Given the description of an element on the screen output the (x, y) to click on. 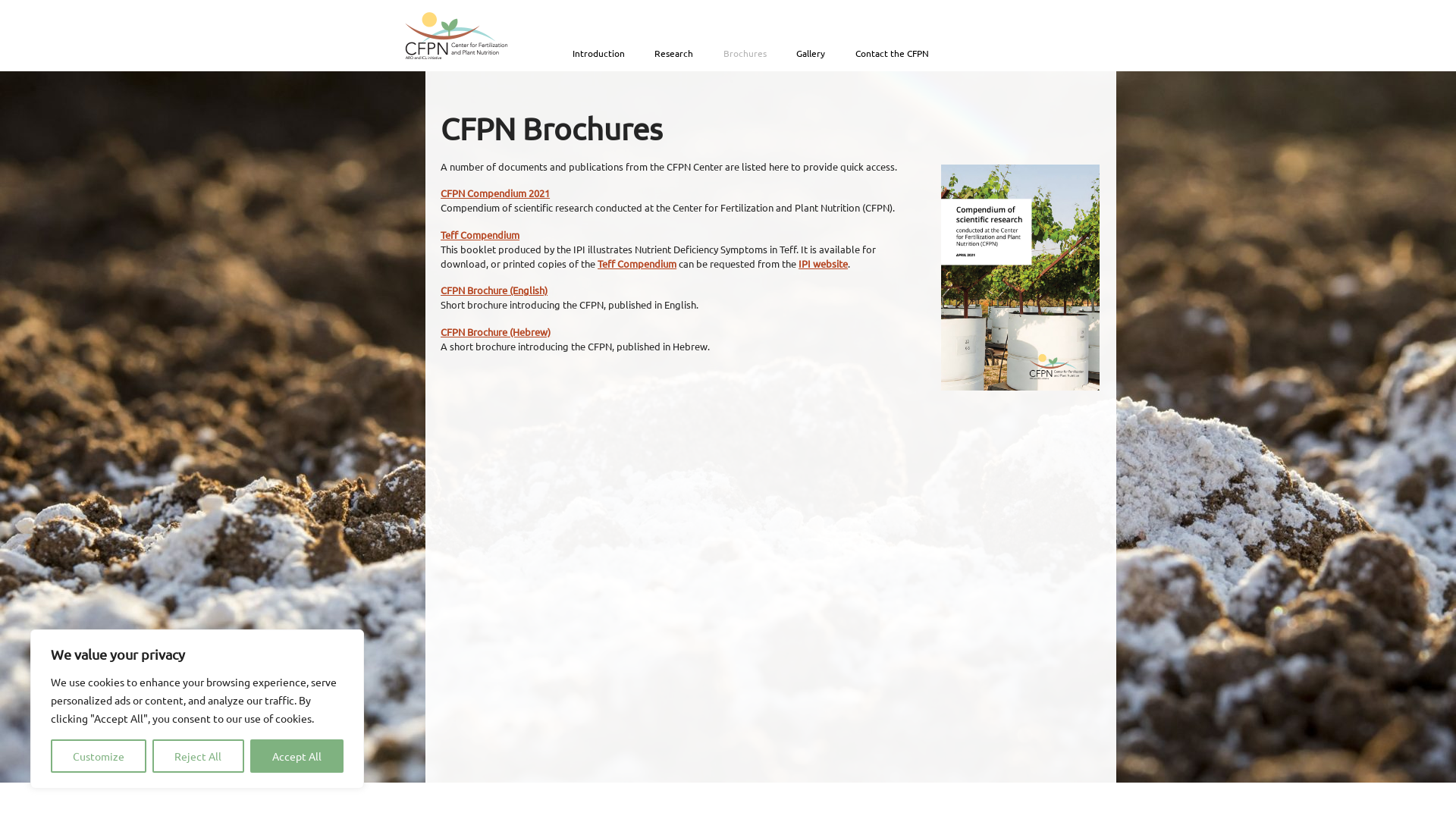
Customize Element type: text (98, 755)
Teff Compendium Element type: text (636, 263)
CFPN Brochures Element type: text (551, 128)
IPI website Element type: text (822, 263)
Research Element type: text (673, 53)
Gallery Element type: text (810, 53)
CFPN Compendium 2021 Element type: text (494, 192)
CFPN Brochure (English) Element type: text (493, 289)
Accept All Element type: text (296, 755)
Contact the CFPN Element type: text (891, 53)
Reject All Element type: text (197, 755)
Teff Compendium Element type: text (479, 234)
Introduction Element type: text (598, 53)
Search Element type: text (963, 51)
Brochures Element type: text (744, 53)
CFPN Brochure (Hebrew) Element type: text (495, 330)
